Given the description of an element on the screen output the (x, y) to click on. 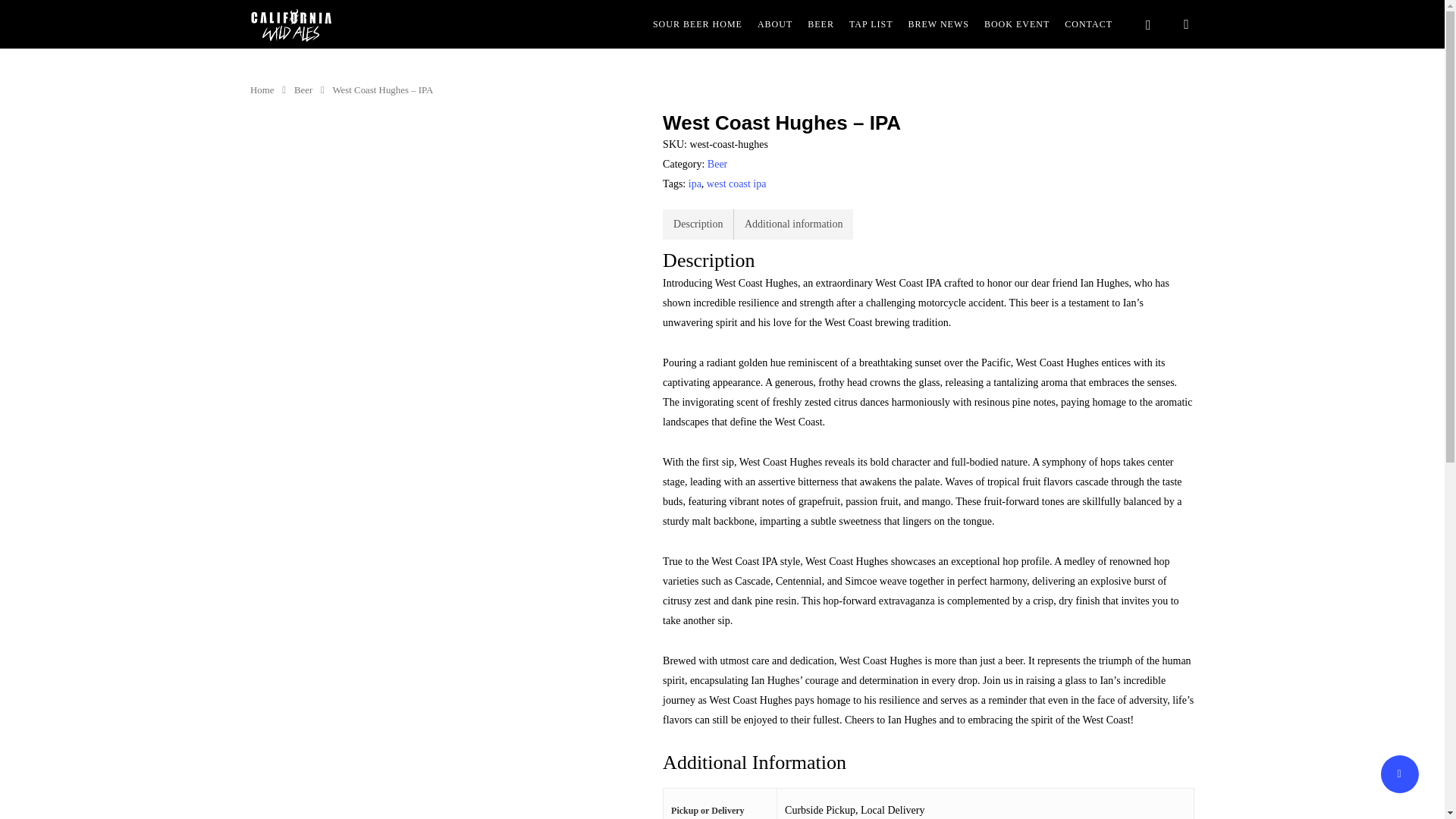
Beer (303, 90)
TAP LIST (870, 24)
Home (261, 90)
west coast ipa (736, 183)
BEER (821, 24)
Description (697, 224)
ipa (694, 183)
Beer (716, 163)
Additional information (793, 224)
BOOK EVENT (1016, 24)
